Given the description of an element on the screen output the (x, y) to click on. 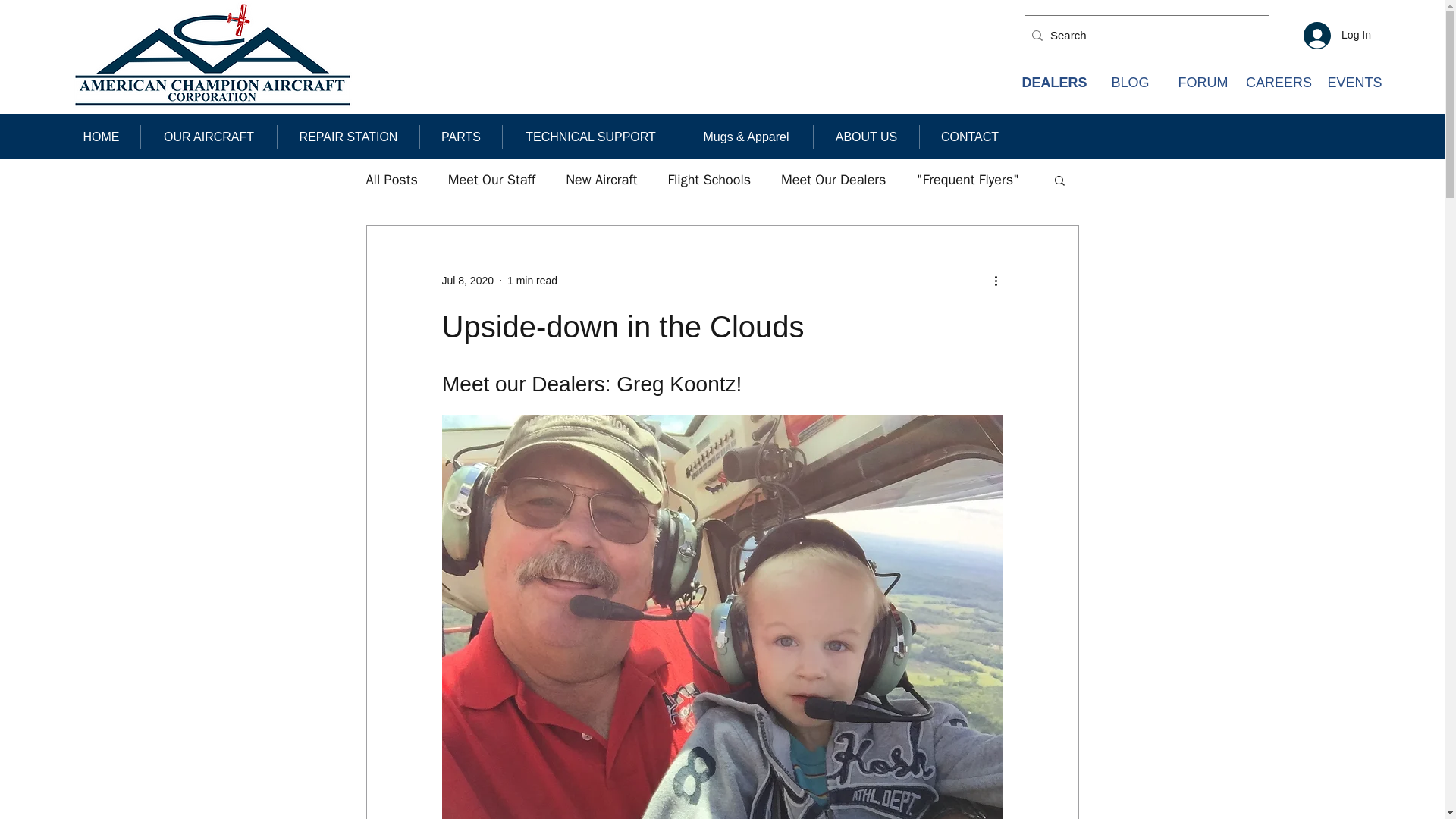
HOME (100, 137)
Meet Our Staff (491, 179)
Log In (1336, 34)
1 min read (531, 280)
REPAIR STATION (348, 137)
BLOG (1130, 83)
EVENTS (1354, 83)
ABOUT US (865, 137)
New Aircraft (601, 179)
All Posts (390, 179)
